Given the description of an element on the screen output the (x, y) to click on. 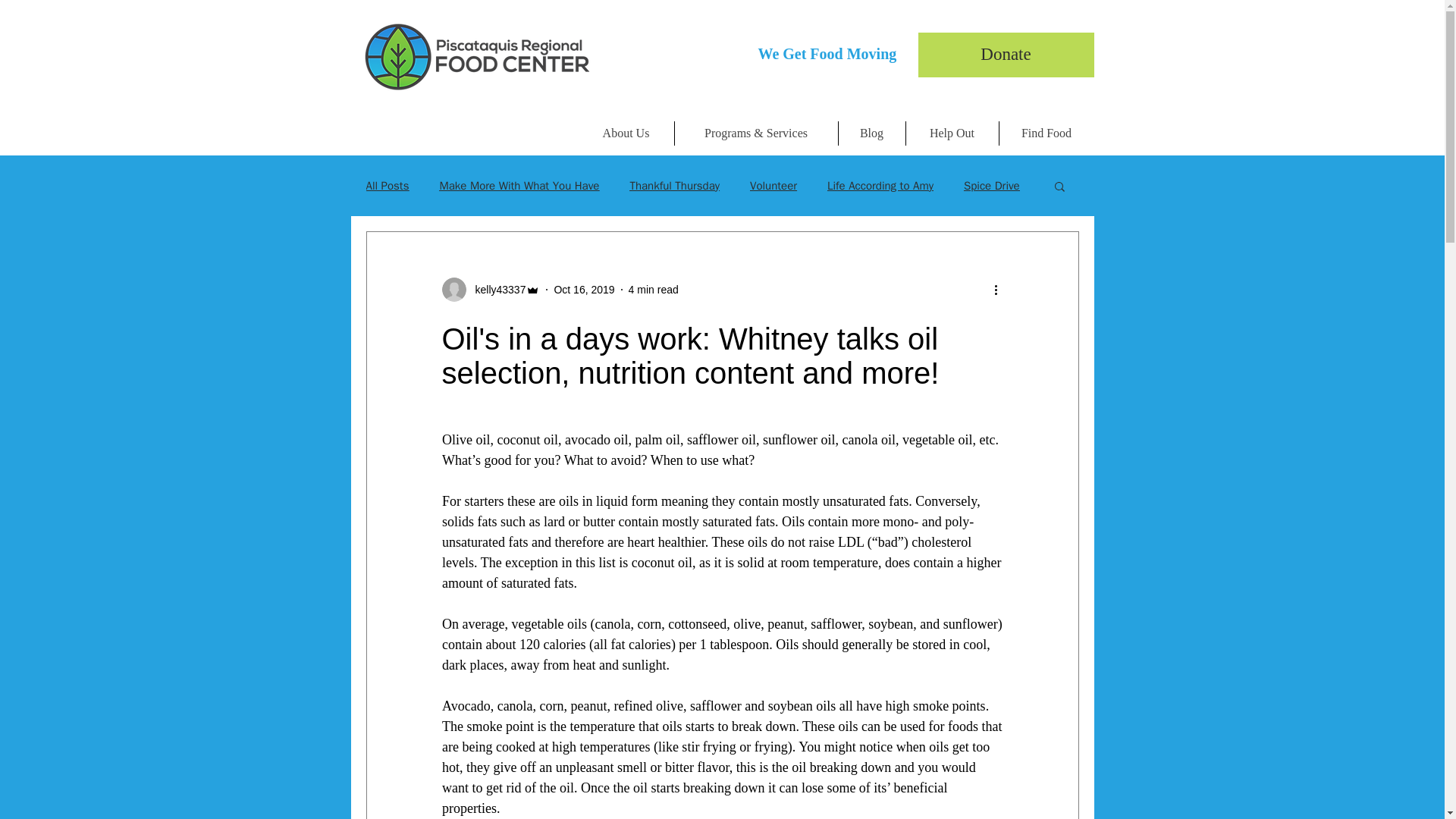
4 min read (653, 289)
Spice Drive (991, 186)
Life According to Amy (880, 186)
All Posts (387, 186)
kelly43337 (495, 289)
Donate (1005, 54)
Volunteer (772, 186)
Oct 16, 2019 (583, 289)
Blog (870, 133)
Thankful Thursday (673, 186)
Make More With What You Have (518, 186)
